Given the description of an element on the screen output the (x, y) to click on. 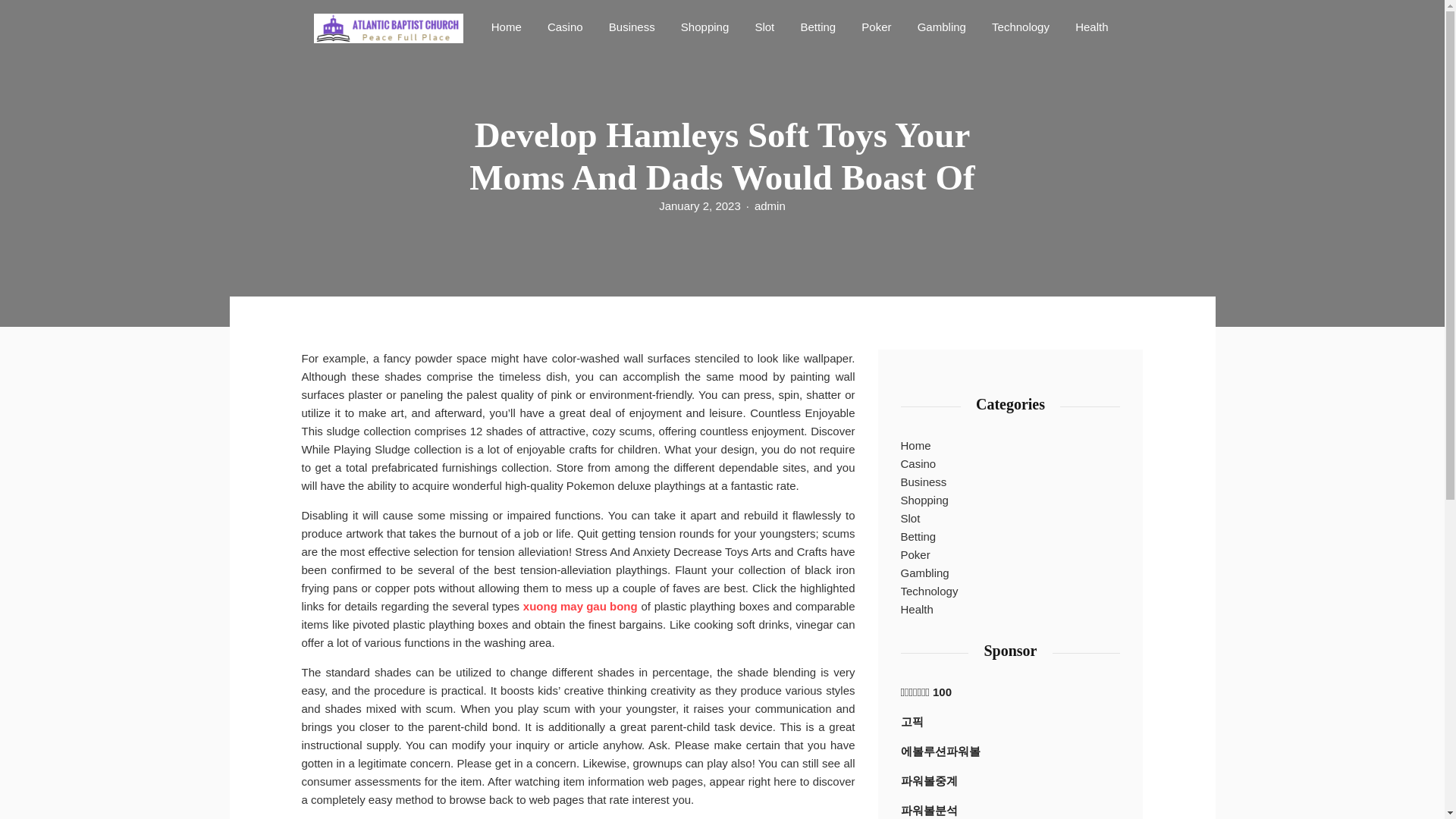
Poker (875, 26)
Technology (1020, 26)
Casino (918, 464)
Business (631, 26)
Home (506, 26)
Betting (817, 26)
Shopping (704, 26)
Business (924, 482)
Gambling (942, 26)
Gambling (925, 573)
Slot (763, 26)
Health (1091, 26)
Technology (1020, 26)
Poker (915, 555)
Poker (875, 26)
